Given the description of an element on the screen output the (x, y) to click on. 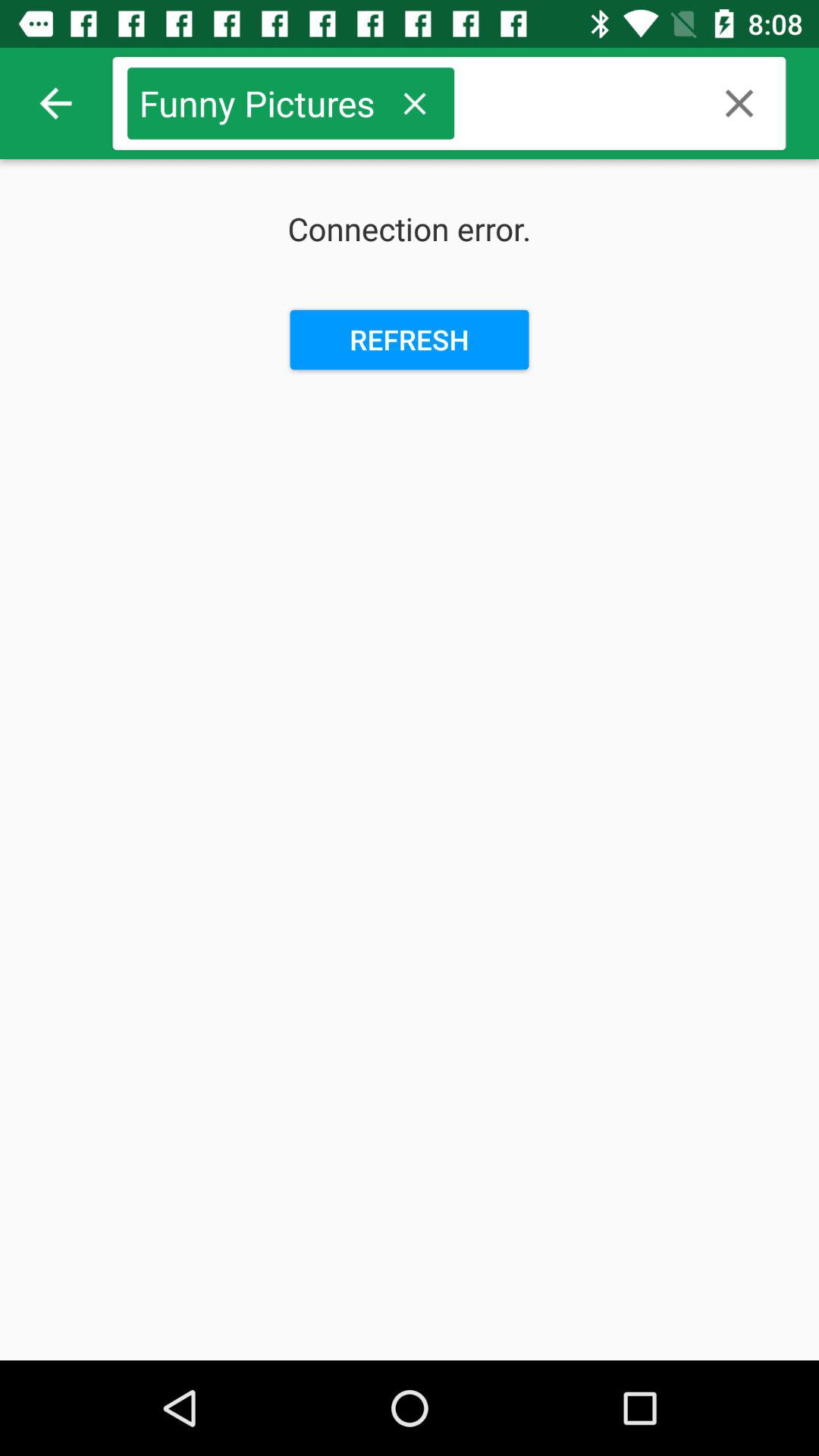
launch item next to funny pictures (55, 103)
